Given the description of an element on the screen output the (x, y) to click on. 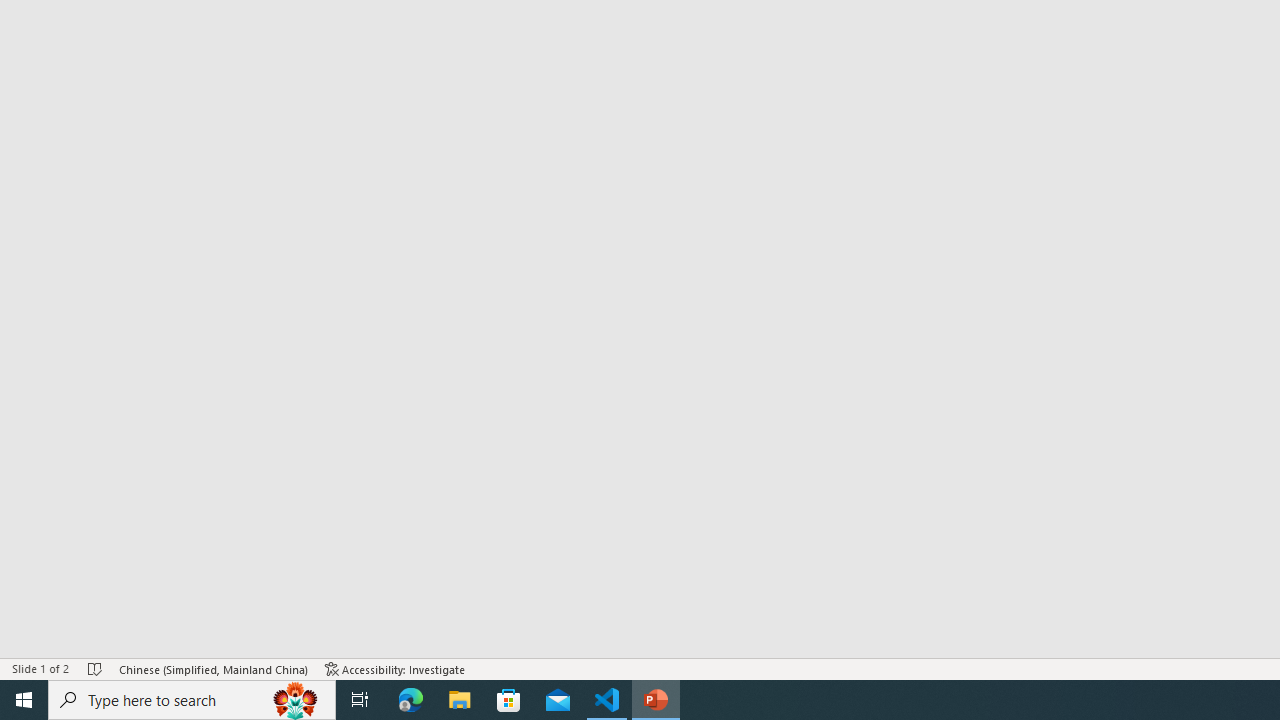
File Explorer (460, 699)
PowerPoint - 1 running window (656, 699)
Search highlights icon opens search home window (295, 699)
Type here to search (191, 699)
Accessibility Checker Accessibility: Investigate (395, 668)
Microsoft Edge (411, 699)
Task View (359, 699)
Start (24, 699)
Microsoft Store (509, 699)
Visual Studio Code - 1 running window (607, 699)
Spell Check No Errors (95, 668)
